Given the description of an element on the screen output the (x, y) to click on. 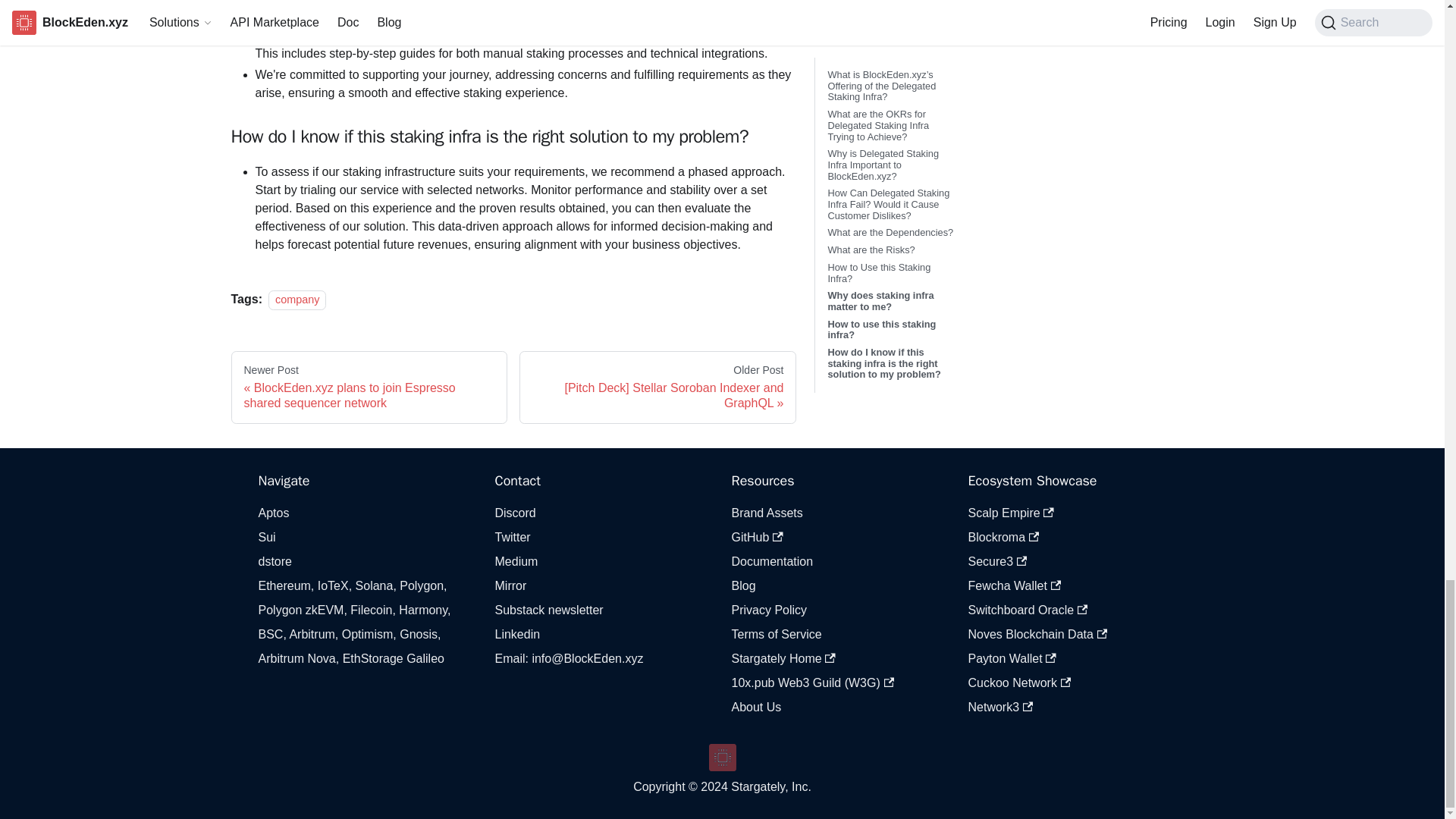
company (296, 300)
